Given the description of an element on the screen output the (x, y) to click on. 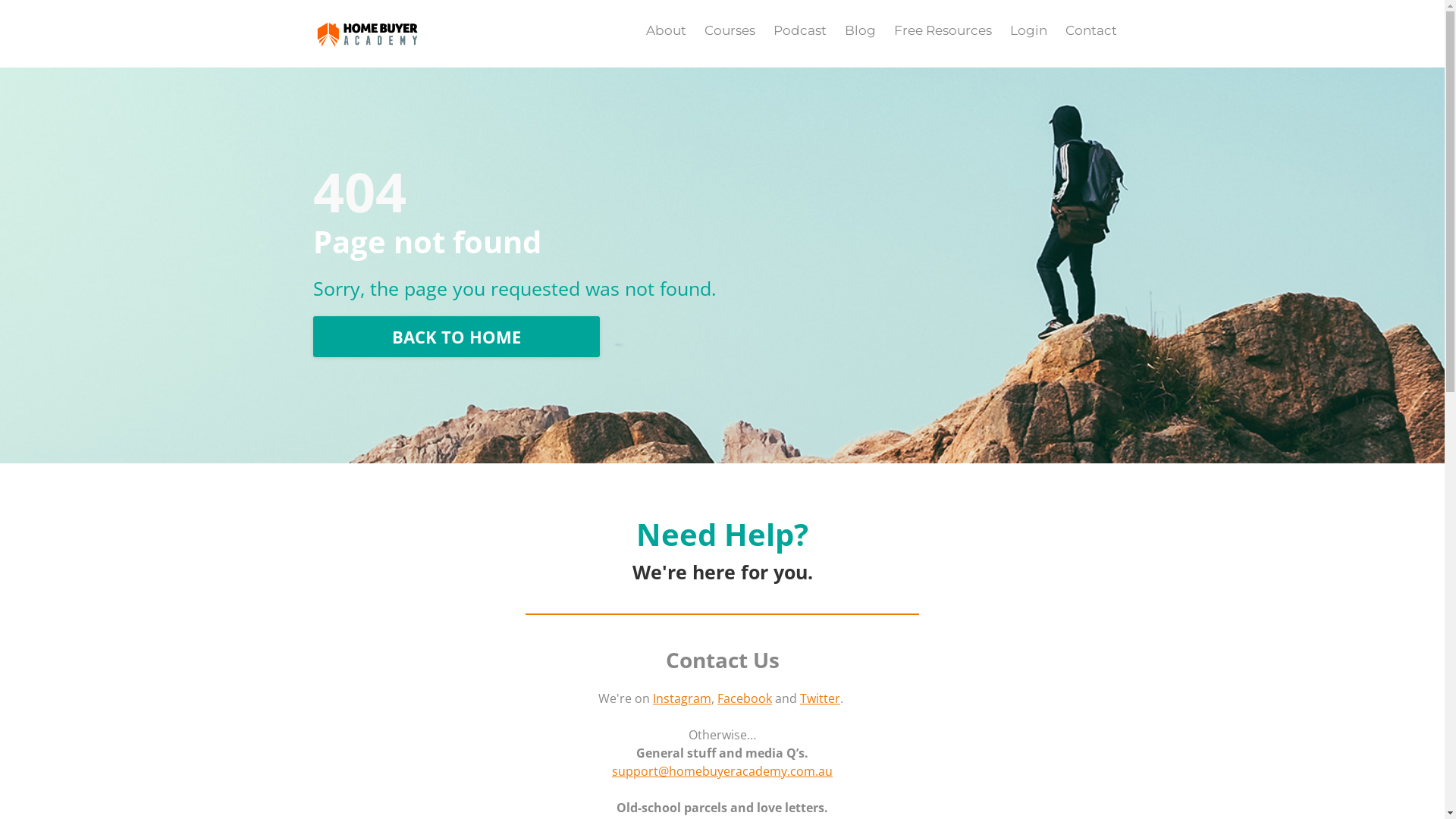
Free Resources Element type: text (942, 29)
Blog Element type: text (859, 29)
Podcast Element type: text (799, 29)
Login Element type: text (1028, 29)
Courses Element type: text (728, 29)
Twitter Element type: text (820, 698)
Contact Element type: text (1090, 29)
About Element type: text (666, 29)
BACK TO HOME Element type: text (455, 336)
Instagram Element type: text (681, 698)
Facebook Element type: text (744, 698)
support@homebuyeracademy.com.au Element type: text (721, 770)
